Given the description of an element on the screen output the (x, y) to click on. 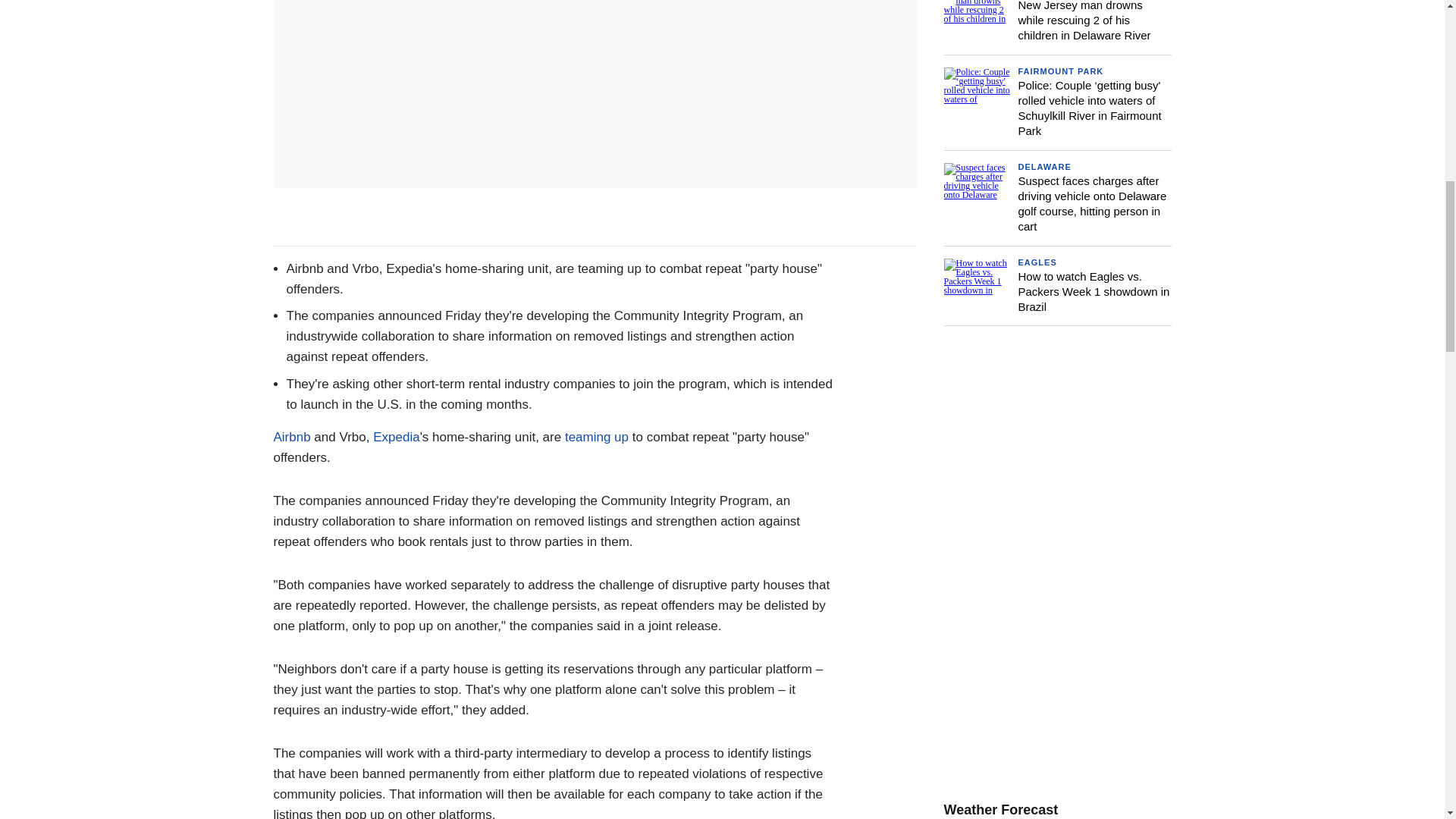
Expedia (395, 436)
Airbnb (291, 436)
teaming up (596, 436)
